Given the description of an element on the screen output the (x, y) to click on. 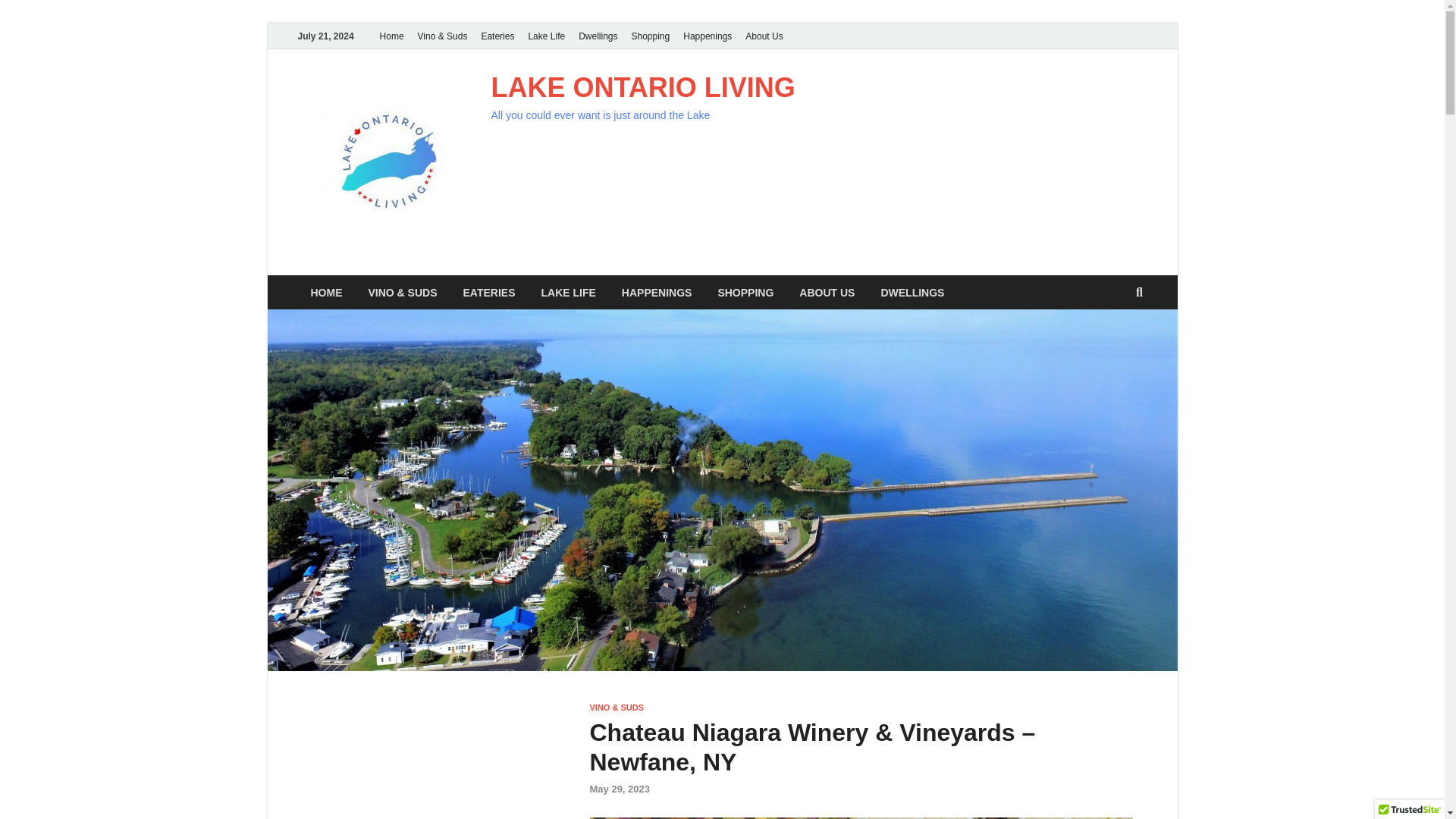
HAPPENINGS (656, 292)
HOME (326, 292)
EATERIES (488, 292)
Shopping (650, 35)
LAKE LIFE (567, 292)
Dwellings (598, 35)
ABOUT US (826, 292)
LAKE ONTARIO LIVING (643, 87)
Eateries (497, 35)
About Us (763, 35)
DWELLINGS (911, 292)
Lake Life (546, 35)
Happenings (707, 35)
SHOPPING (745, 292)
Home (391, 35)
